Given the description of an element on the screen output the (x, y) to click on. 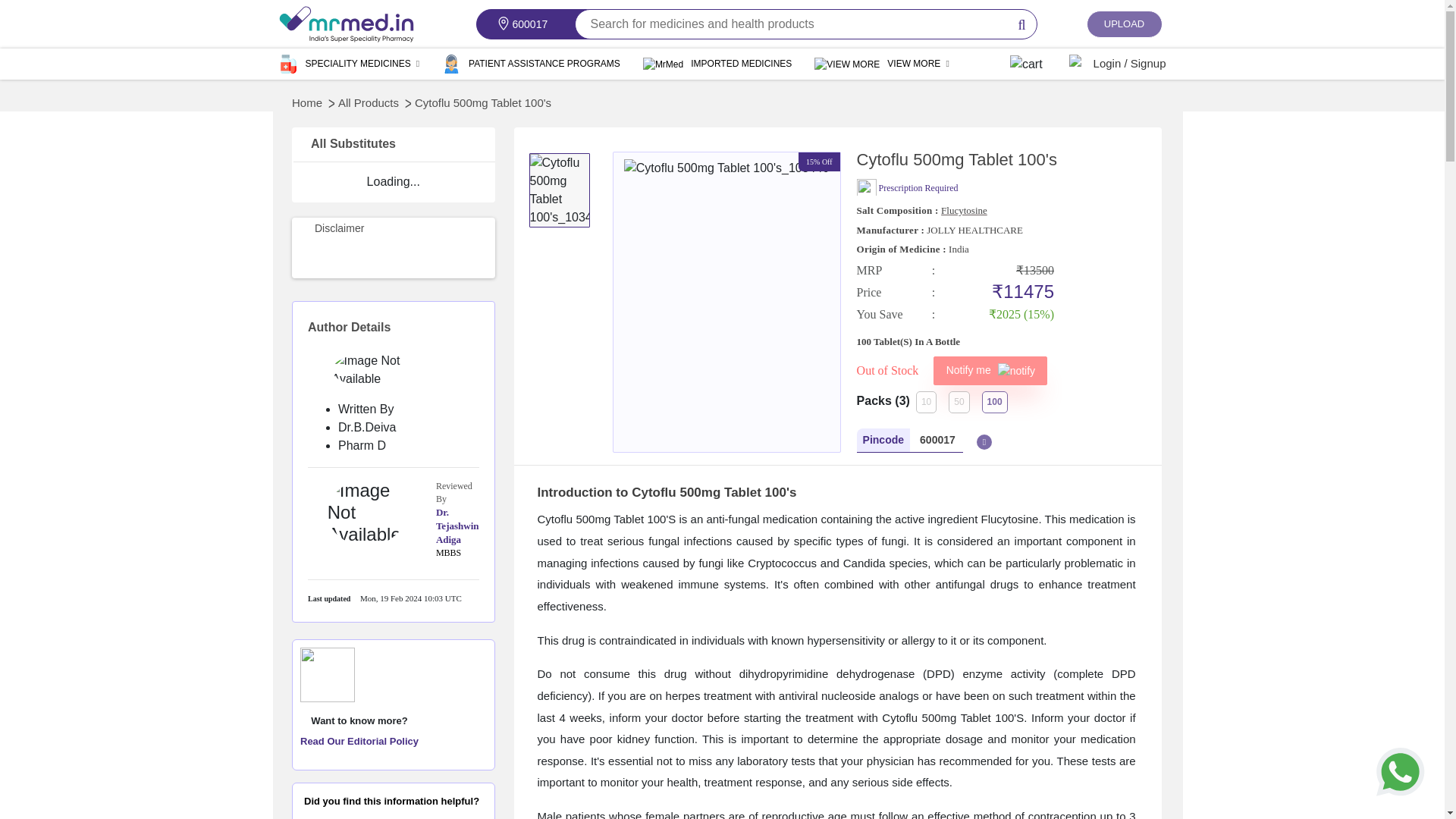
Notify me (989, 370)
50 (959, 402)
Flucytosine (963, 210)
600017 (945, 439)
UPLOAD (1123, 23)
PATIENT ASSISTANCE PROGRAMS (542, 62)
MrMed (346, 23)
100 (994, 402)
10 (925, 402)
IMPORTED MEDICINES (728, 62)
